Given the description of an element on the screen output the (x, y) to click on. 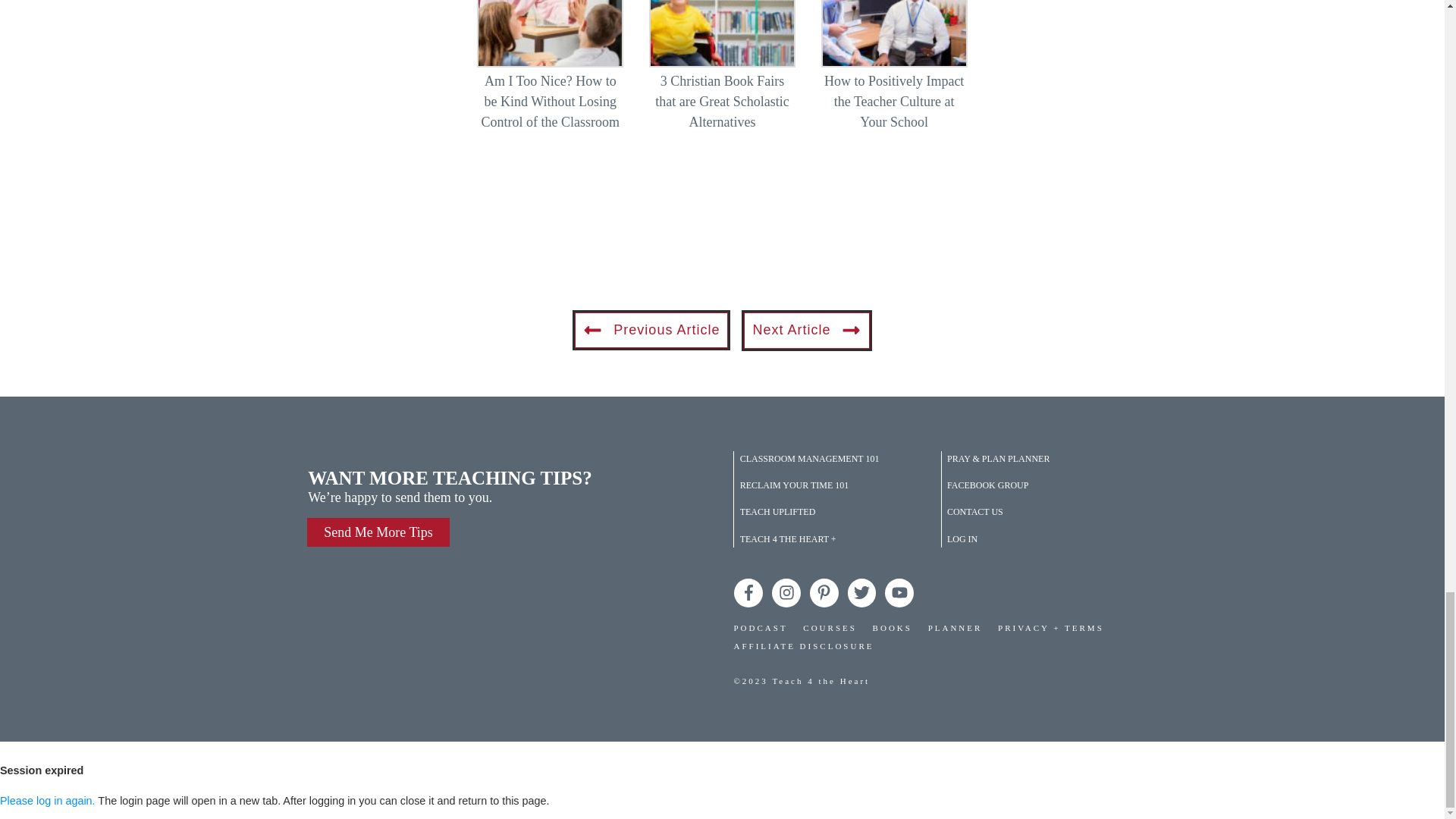
How to Positively Impact the Teacher Culture at Your School (894, 74)
How to Positively Impact the Teacher Culture at Your School (893, 101)
How to Positively Impact the Teacher Culture at Your School (893, 101)
